Given the description of an element on the screen output the (x, y) to click on. 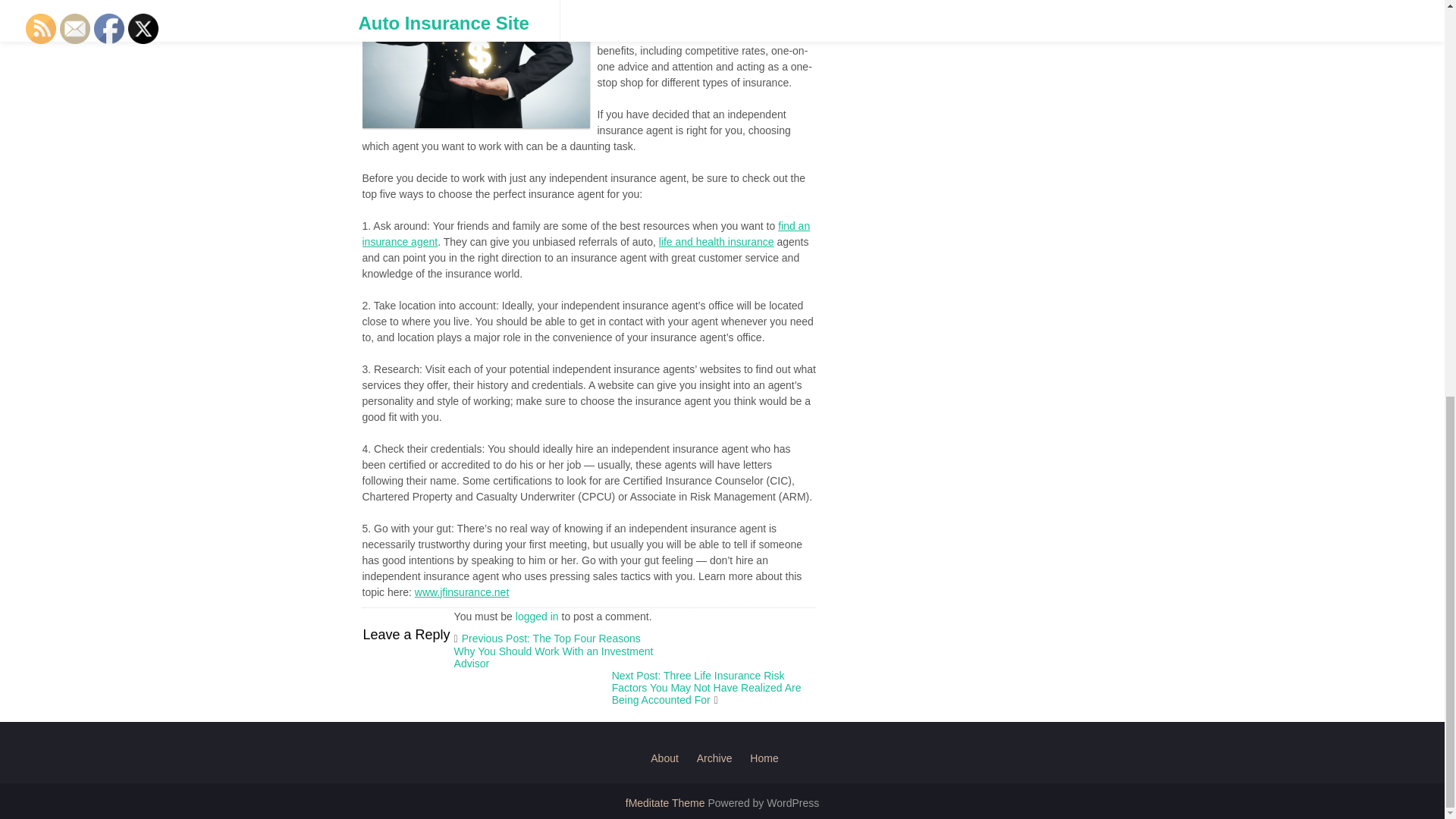
life and health insurance (716, 241)
logged in (537, 616)
fMeditate Theme (666, 802)
fMeditate Theme (666, 802)
Home (763, 758)
find an insurance agent (586, 234)
About (664, 758)
www.jfinsurance.net (461, 592)
